Given the description of an element on the screen output the (x, y) to click on. 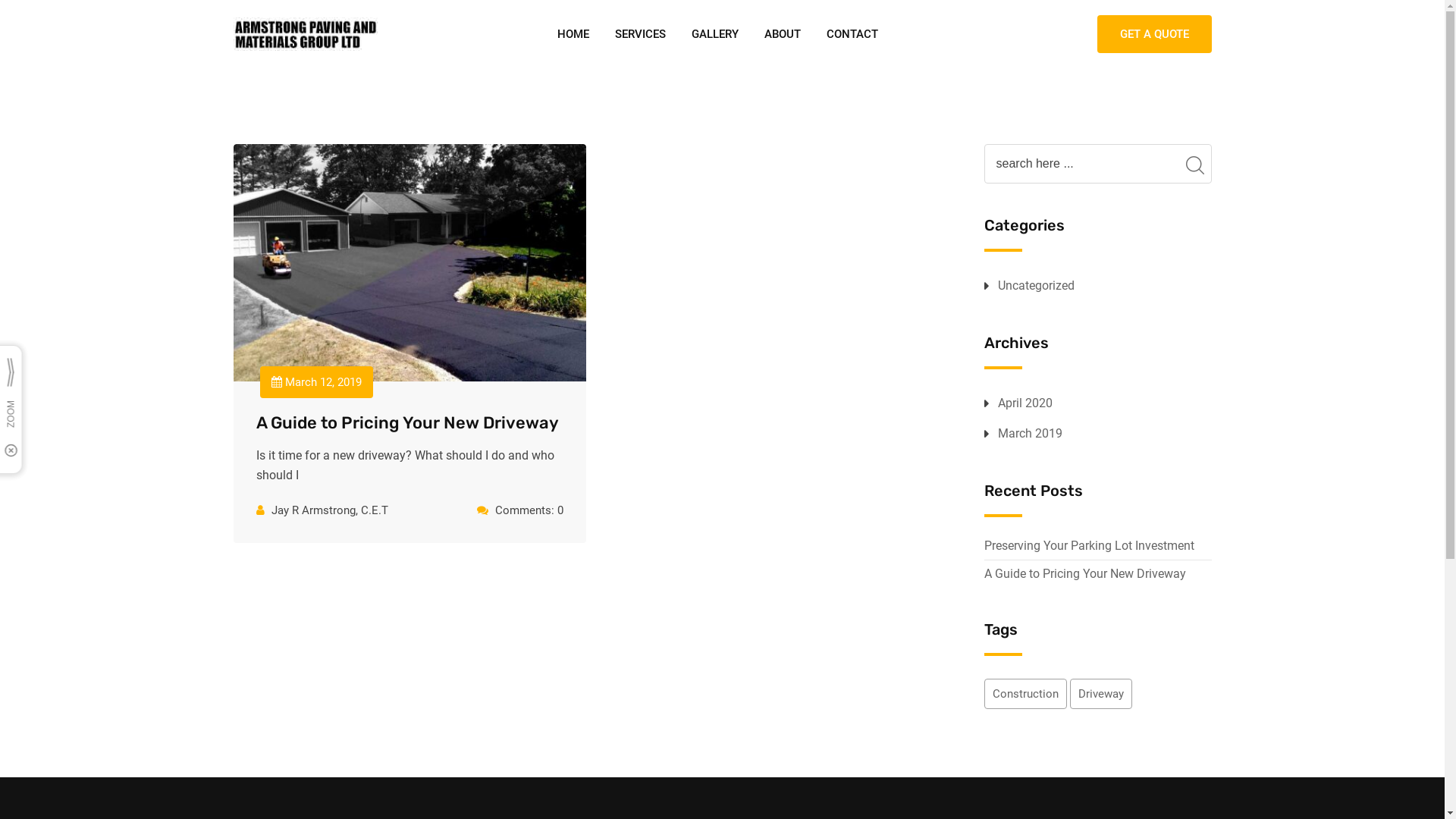
CONTACT Element type: text (845, 34)
GALLERY Element type: text (714, 34)
April 2020 Element type: text (1024, 403)
ABOUT Element type: text (781, 34)
March 2019 Element type: text (1029, 433)
Preserving Your Parking Lot Investment Element type: text (1089, 545)
March 12, 2019 Element type: text (315, 382)
Driveway Element type: text (1100, 693)
HOME Element type: text (573, 34)
A Guide to Pricing Your New Driveway Element type: text (1085, 573)
A Guide to Pricing Your New Driveway Element type: text (407, 422)
SERVICES Element type: text (640, 34)
Jay R Armstrong, C.E.T Element type: text (329, 510)
Construction Element type: text (1025, 693)
GET A QUOTE Element type: text (1153, 34)
Uncategorized Element type: text (1035, 285)
